Given the description of an element on the screen output the (x, y) to click on. 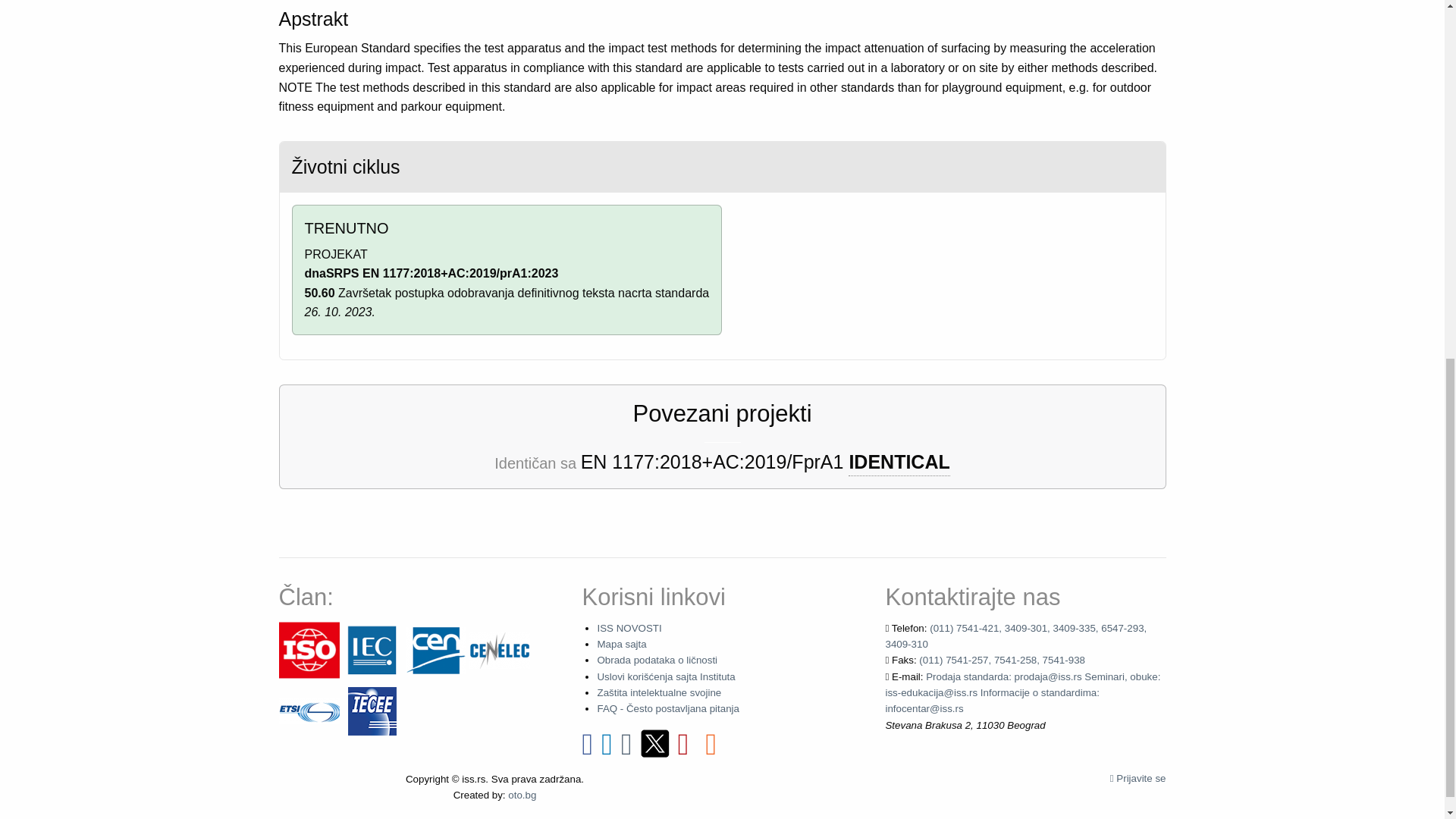
IECEE (372, 709)
CEN (435, 649)
CENELEC (498, 649)
IEC (372, 649)
ETSI (309, 709)
